Given the description of an element on the screen output the (x, y) to click on. 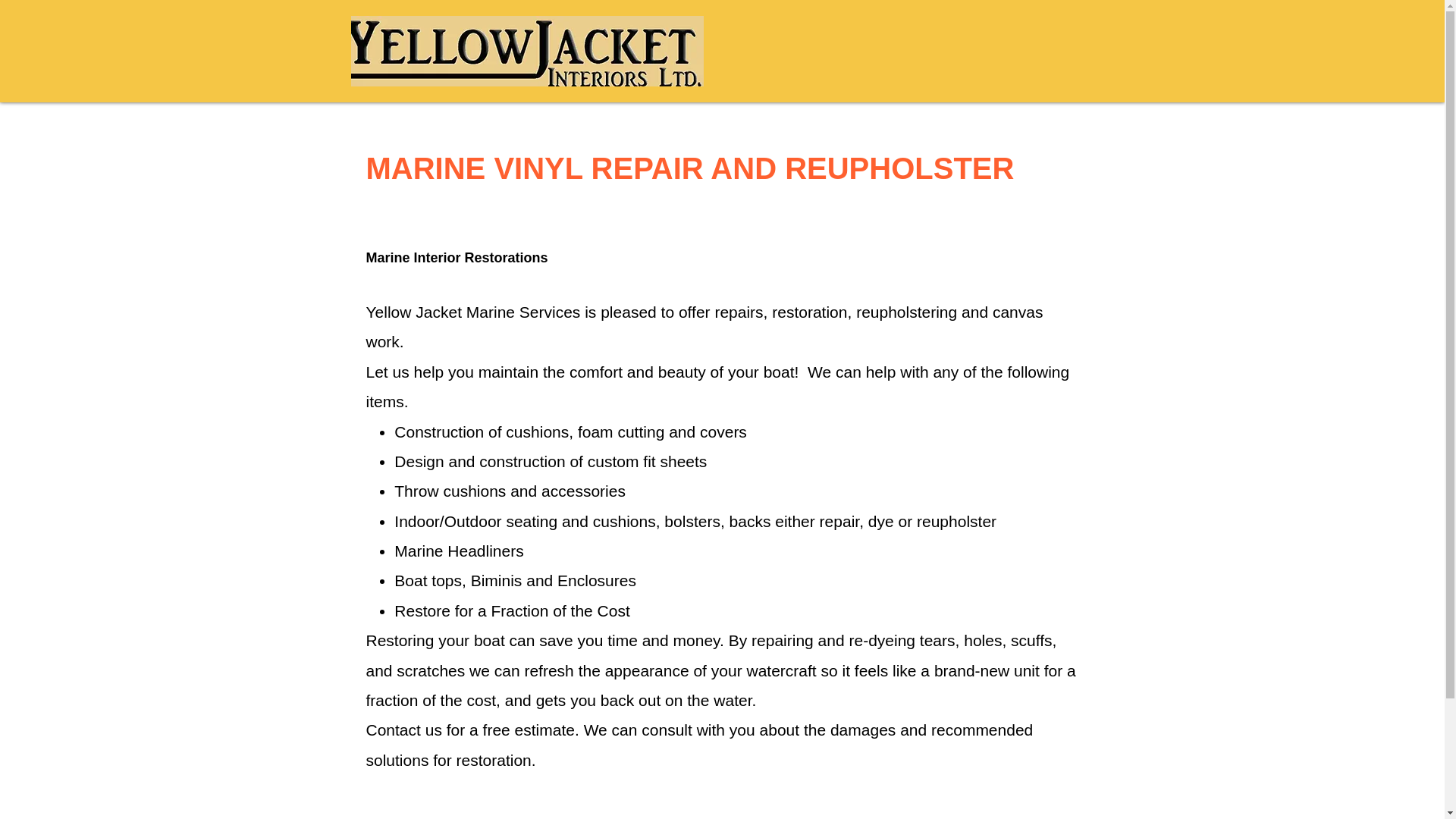
Bee2--newtrademark---yellowjacket-Recove (526, 50)
